Given the description of an element on the screen output the (x, y) to click on. 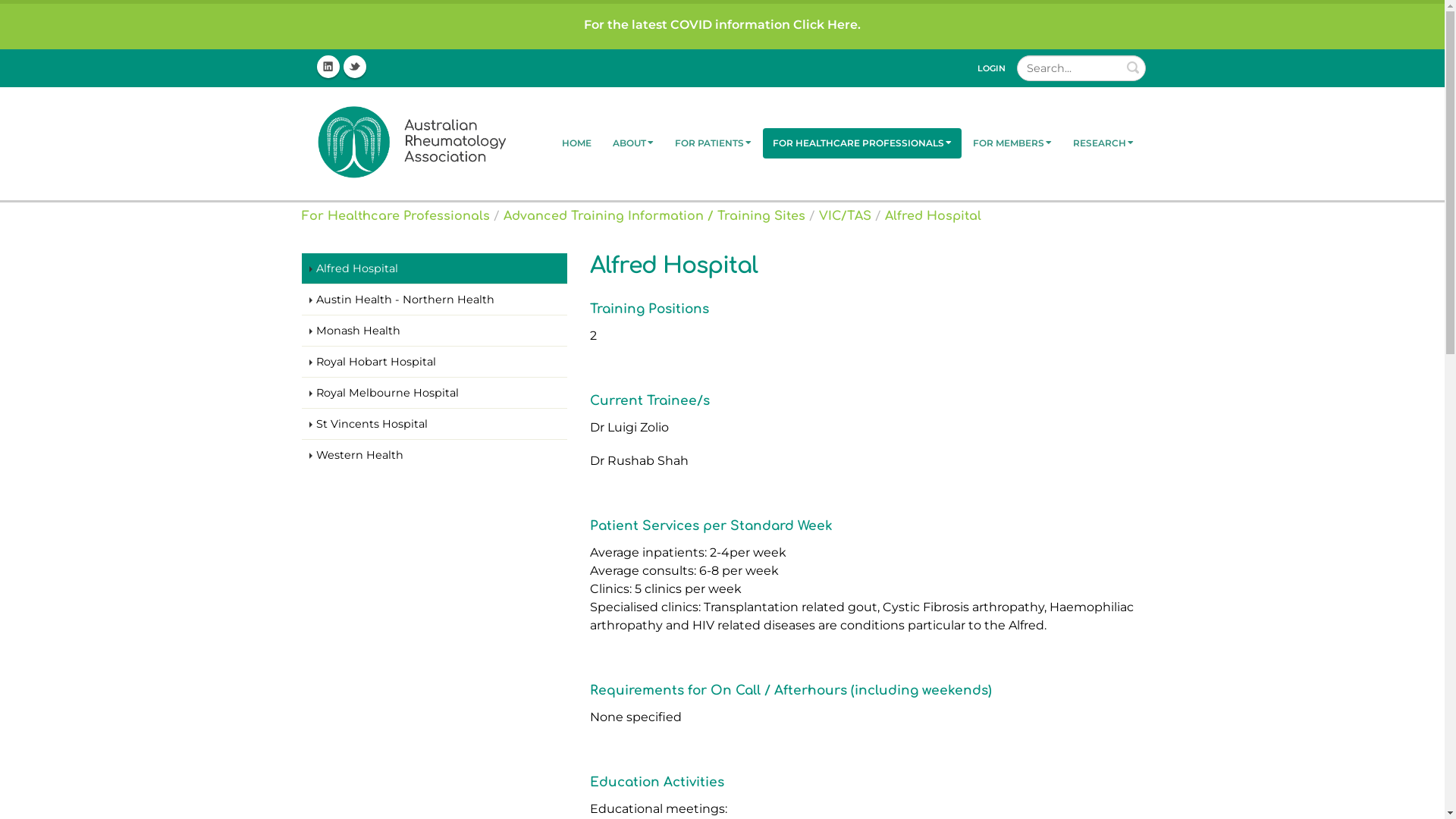
Search Element type: text (1132, 67)
LOGIN Element type: text (990, 67)
St Vincents Hospital Element type: text (434, 423)
FOR PATIENTS Element type: text (712, 143)
Click Here. Element type: text (826, 24)
Australian Rheumatology Association Element type: hover (407, 142)
Linkedin Icon Element type: text (327, 66)
Royal Melbourne Hospital Element type: text (434, 392)
Royal Hobart Hospital Element type: text (434, 361)
HOME Element type: text (576, 143)
Clear search text Element type: hover (1131, 66)
Monash Health Element type: text (434, 330)
FOR MEMBERS Element type: text (1012, 143)
VIC/TAS Element type: text (845, 215)
Alfred Hospital Element type: text (932, 215)
ABOUT Element type: text (632, 143)
Western Health Element type: text (434, 454)
For Healthcare Professionals Element type: text (395, 215)
Austin Health - Northern Health Element type: text (434, 299)
FOR HEALTHCARE PROFESSIONALS Element type: text (861, 143)
Twitter Icon Element type: text (353, 66)
Advanced Training Information / Training Sites Element type: text (654, 215)
RESEARCH Element type: text (1103, 143)
Alfred Hospital Element type: text (434, 268)
